Given the description of an element on the screen output the (x, y) to click on. 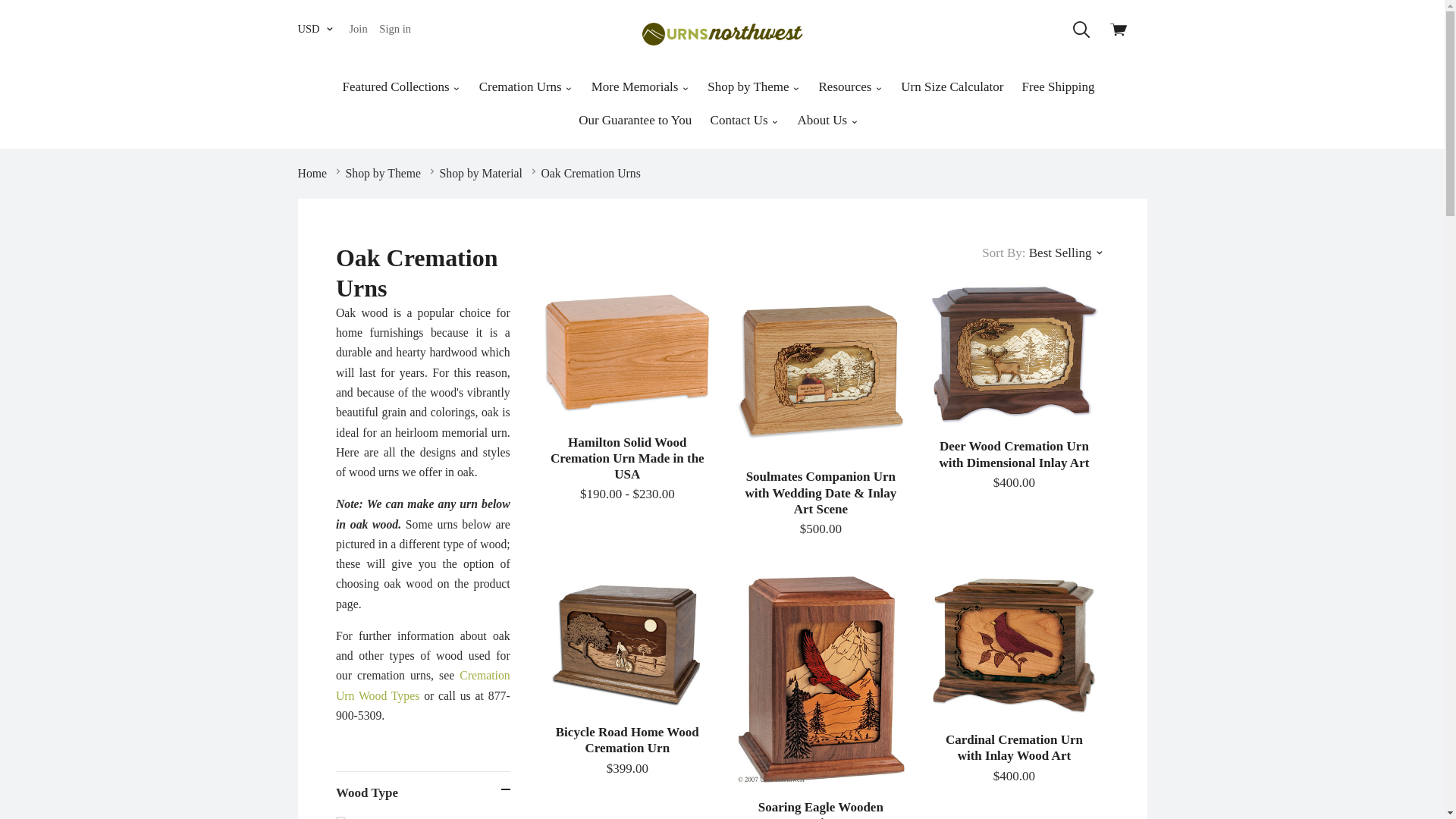
Hamilton Solid Wood Cremation Urn Made in the USA (627, 470)
Deer Wood Cremation Urn with Dimensional Inlay Art (1014, 465)
Cremation Urn Wood Types (423, 685)
Join (357, 28)
Bicycle Road Home Wood Cremation Urn (627, 641)
Featured Collections (401, 87)
Deer Wood Cremation Urn with Dimensional Inlay Art (1013, 353)
Hamilton Solid Wood Cremation Urn Made in the USA (627, 350)
Sign in (394, 28)
Cremation Urns (526, 87)
Mahogany (423, 815)
View cart (1123, 32)
View cart (1123, 32)
